Given the description of an element on the screen output the (x, y) to click on. 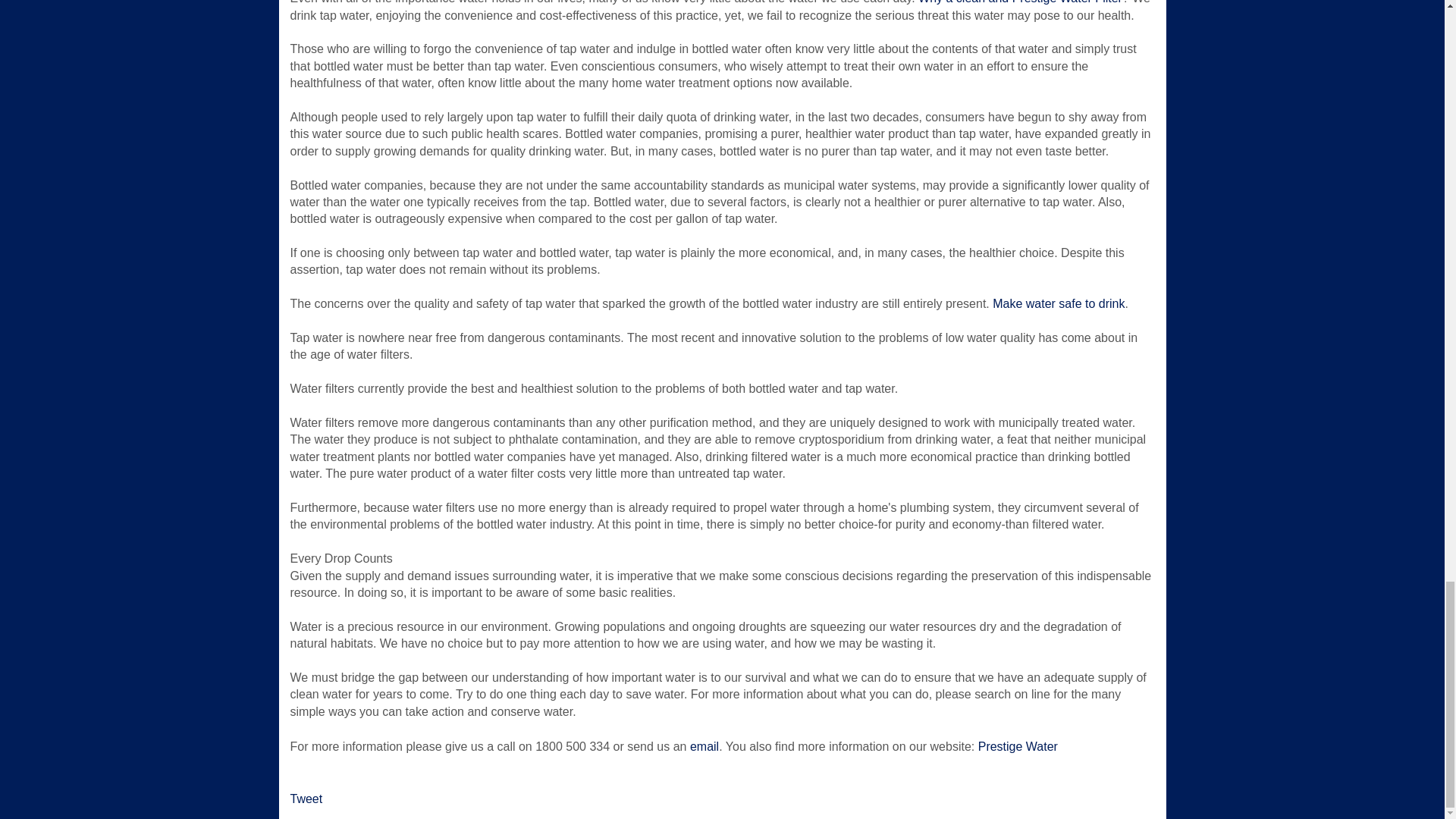
Make water safe to drink (1058, 303)
email (704, 746)
Share it on Twitter (305, 798)
Prestige Water (1018, 746)
Tweet (305, 798)
Why a clean and Prestige Water Filter (1020, 2)
